Given the description of an element on the screen output the (x, y) to click on. 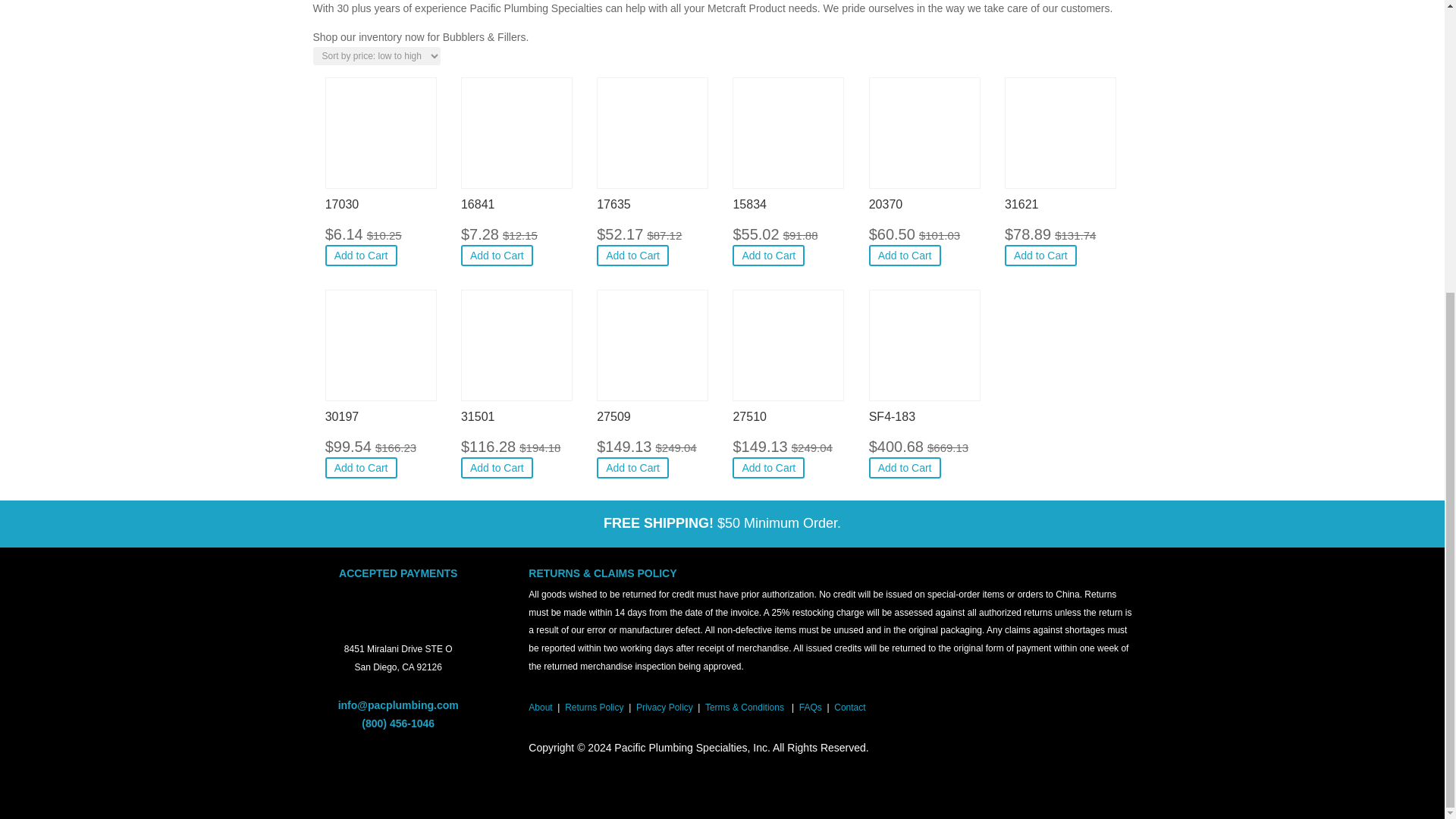
Add to Cart (496, 255)
Add to Cart (360, 255)
Add to Cart (768, 255)
Contact Us (849, 706)
About Us (539, 706)
Privacy Policy (664, 706)
Add to Cart (904, 255)
Add to Cart (1040, 255)
Add to Cart (360, 467)
Returns Policy (593, 706)
